Given the description of an element on the screen output the (x, y) to click on. 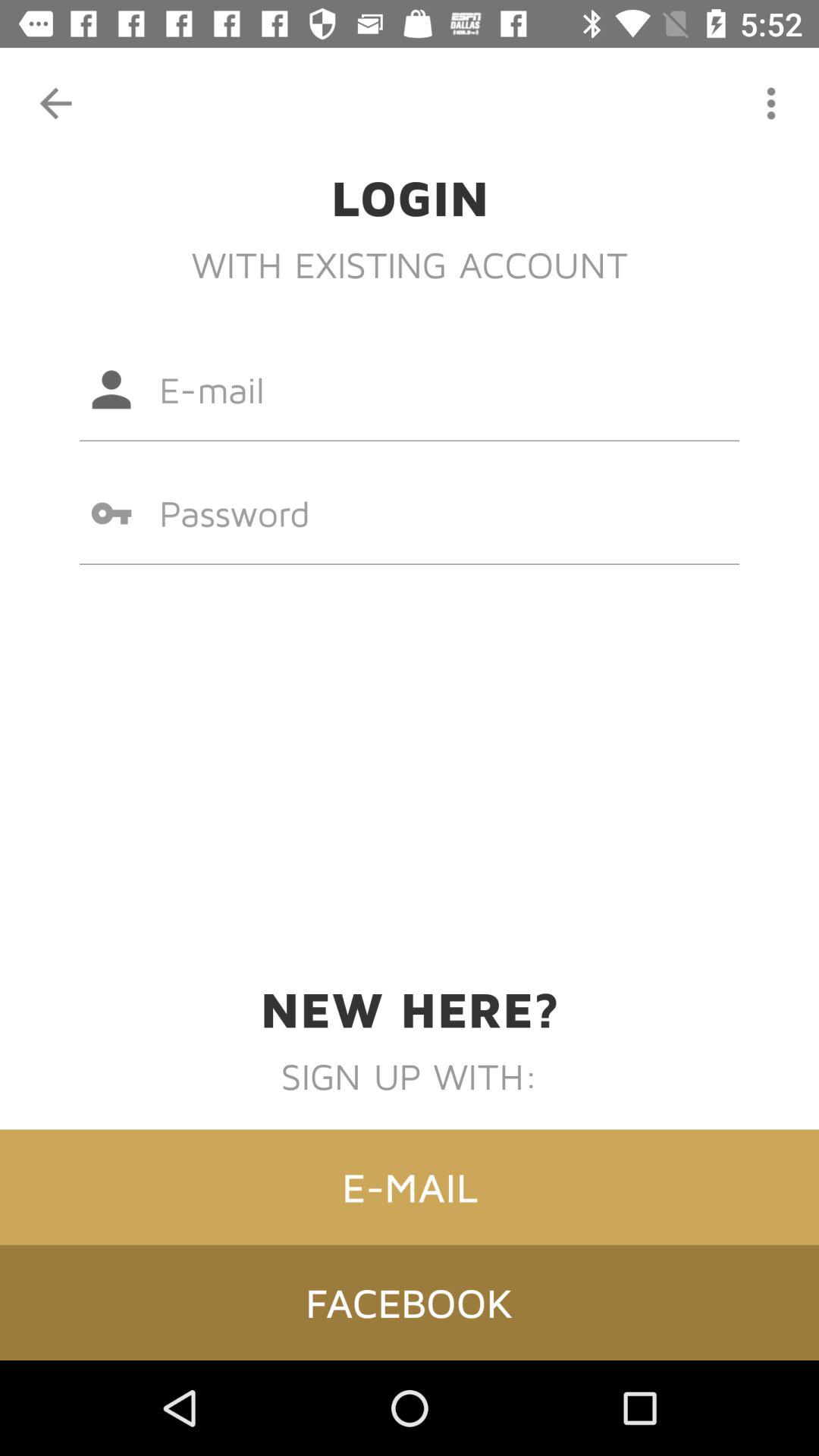
select icon above new here? item (409, 512)
